Given the description of an element on the screen output the (x, y) to click on. 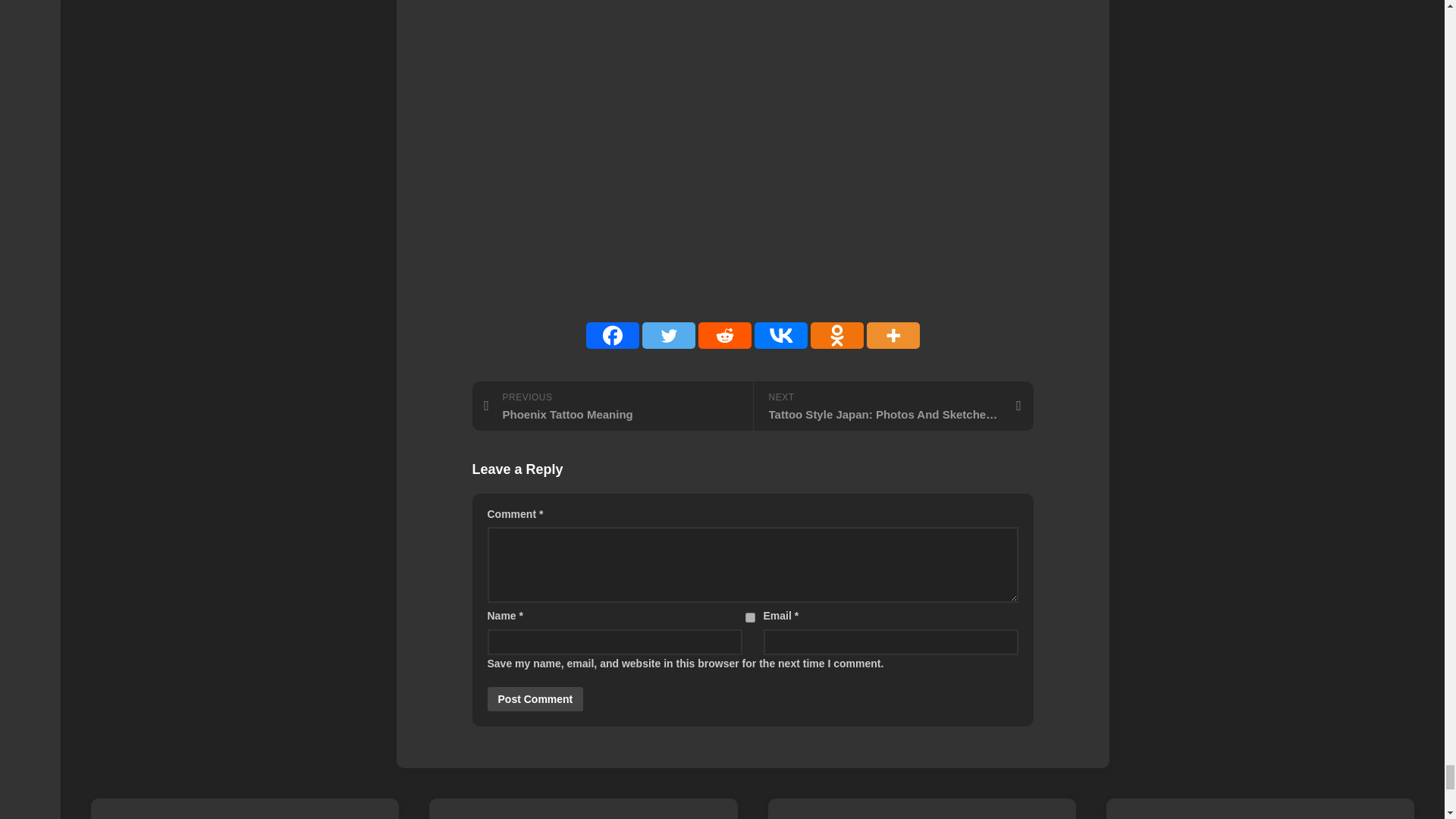
More (892, 335)
Odnoklassniki (836, 335)
yes (749, 617)
Post Comment (534, 699)
Twitter (668, 335)
Facebook (612, 335)
Vkontakte (780, 335)
Reddit (724, 335)
